Given the description of an element on the screen output the (x, y) to click on. 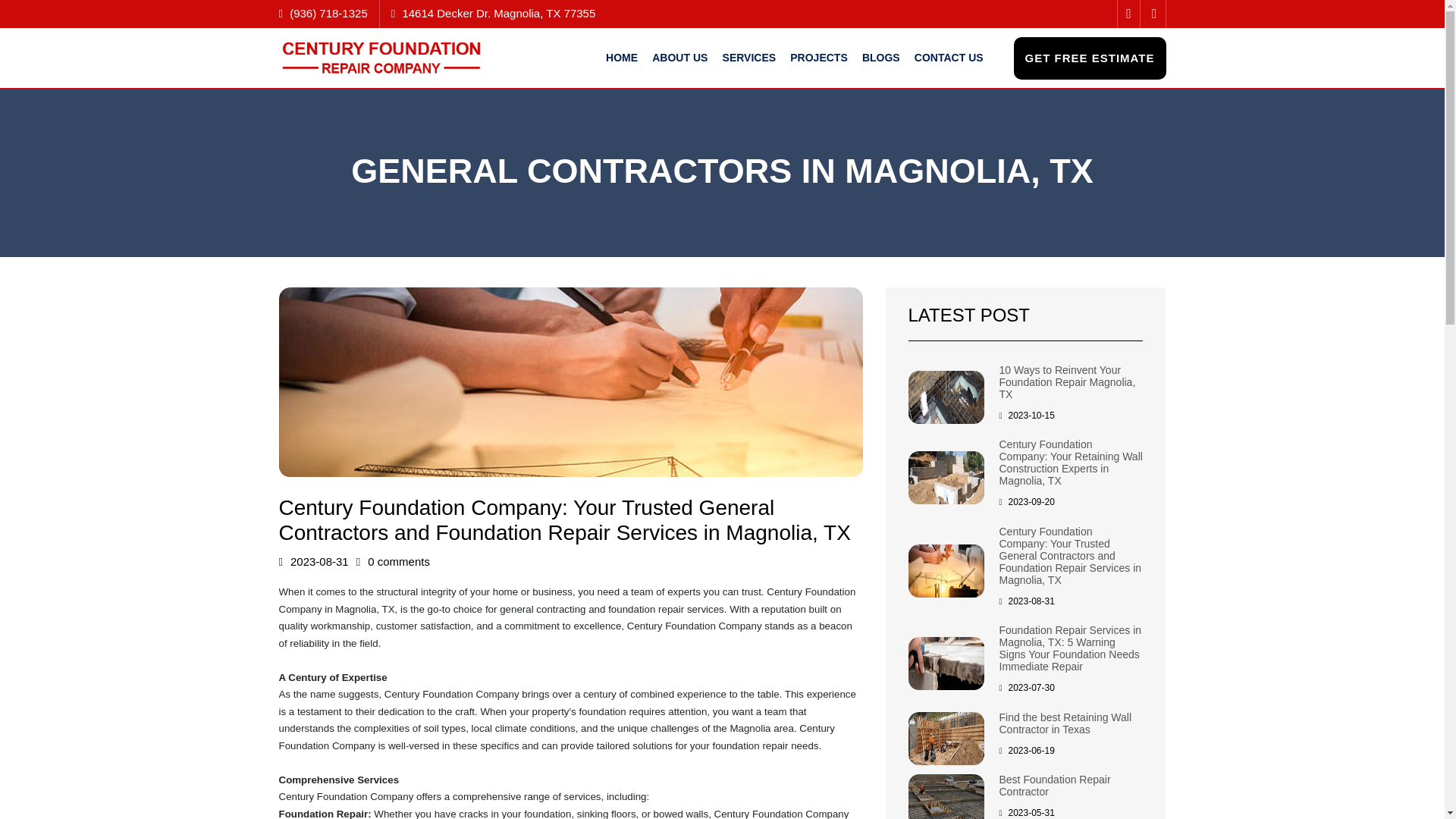
2023-06-19 (1026, 750)
Best Foundation Repair Contractor (1054, 785)
CONTACT US (949, 57)
SERVICES (749, 57)
2023-08-31 (1026, 601)
HOME (621, 57)
0 comments (392, 561)
2023-05-31 (1026, 812)
GET FREE ESTIMATE (1089, 57)
14614 Decker Dr. Magnolia, TX 77355 (498, 12)
2023-10-15 (1026, 415)
2023-07-30 (1026, 687)
2023-08-31 (314, 561)
